Given the description of an element on the screen output the (x, y) to click on. 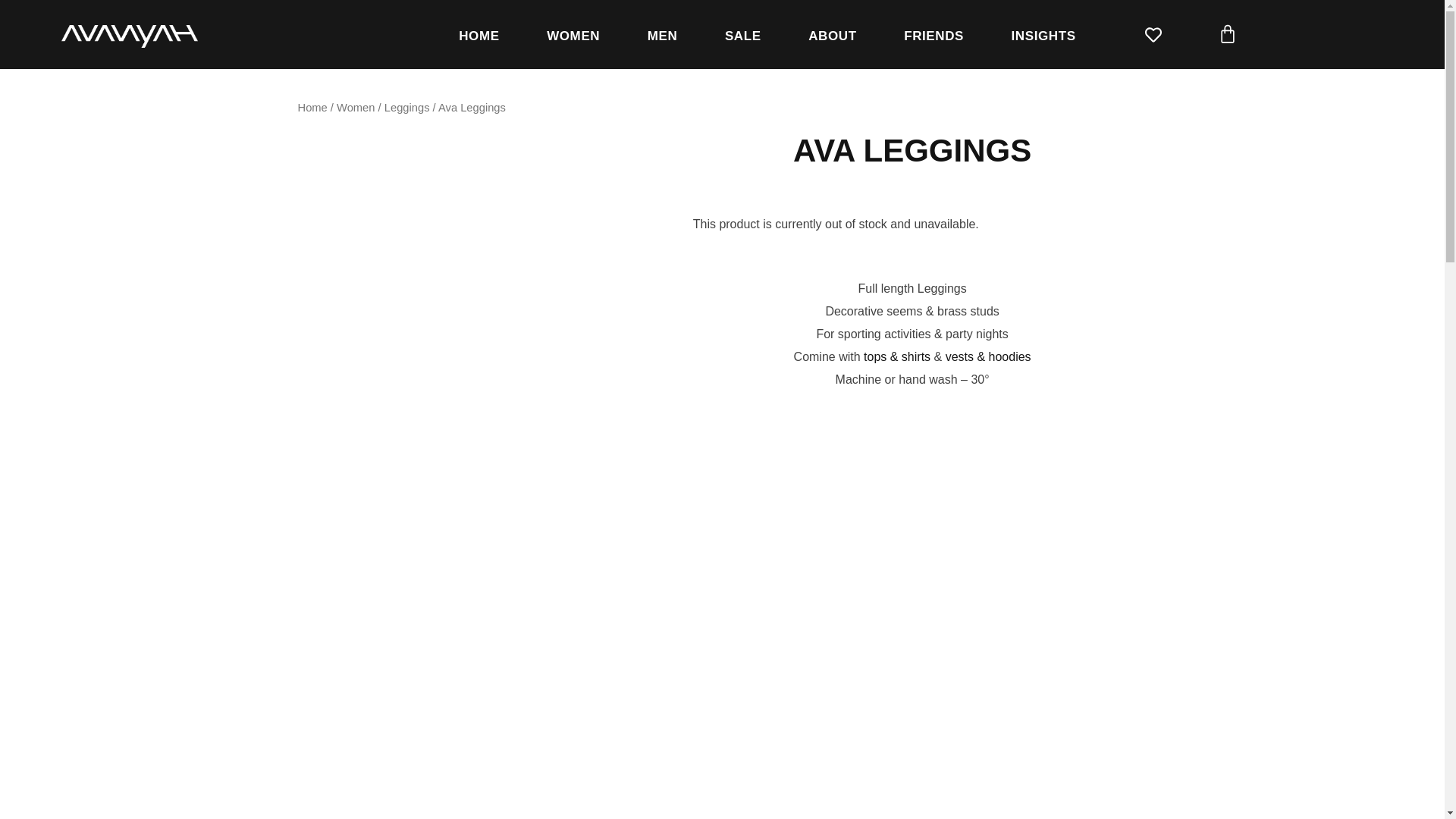
ABOUT (832, 36)
WOMEN (573, 36)
INSIGHTS (1043, 36)
Leggings (406, 107)
Home (311, 107)
FRIENDS (933, 36)
HOME (478, 36)
Women (355, 107)
MEN (661, 36)
SALE (742, 36)
